Given the description of an element on the screen output the (x, y) to click on. 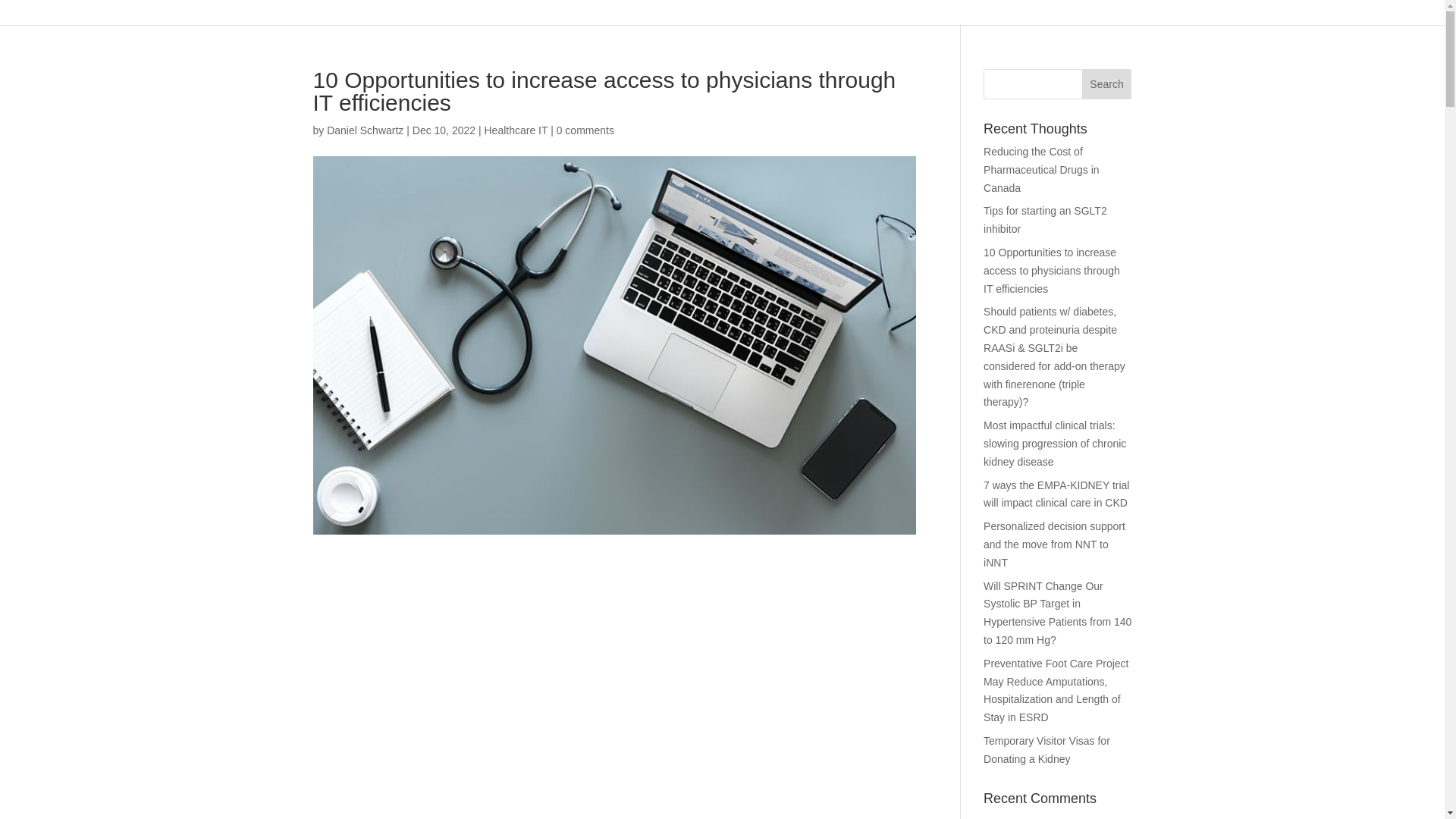
Reducing the Cost of Pharmaceutical Drugs in Canada (1041, 169)
Tips for starting an SGLT2 inhibitor (1045, 219)
Temporary Visitor Visas for Donating a Kidney (1046, 749)
Search (1106, 83)
Posts by Daniel Schwartz (364, 130)
Search (1106, 83)
Personalized decision support and the move from NNT to iNNT (1054, 544)
